Given the description of an element on the screen output the (x, y) to click on. 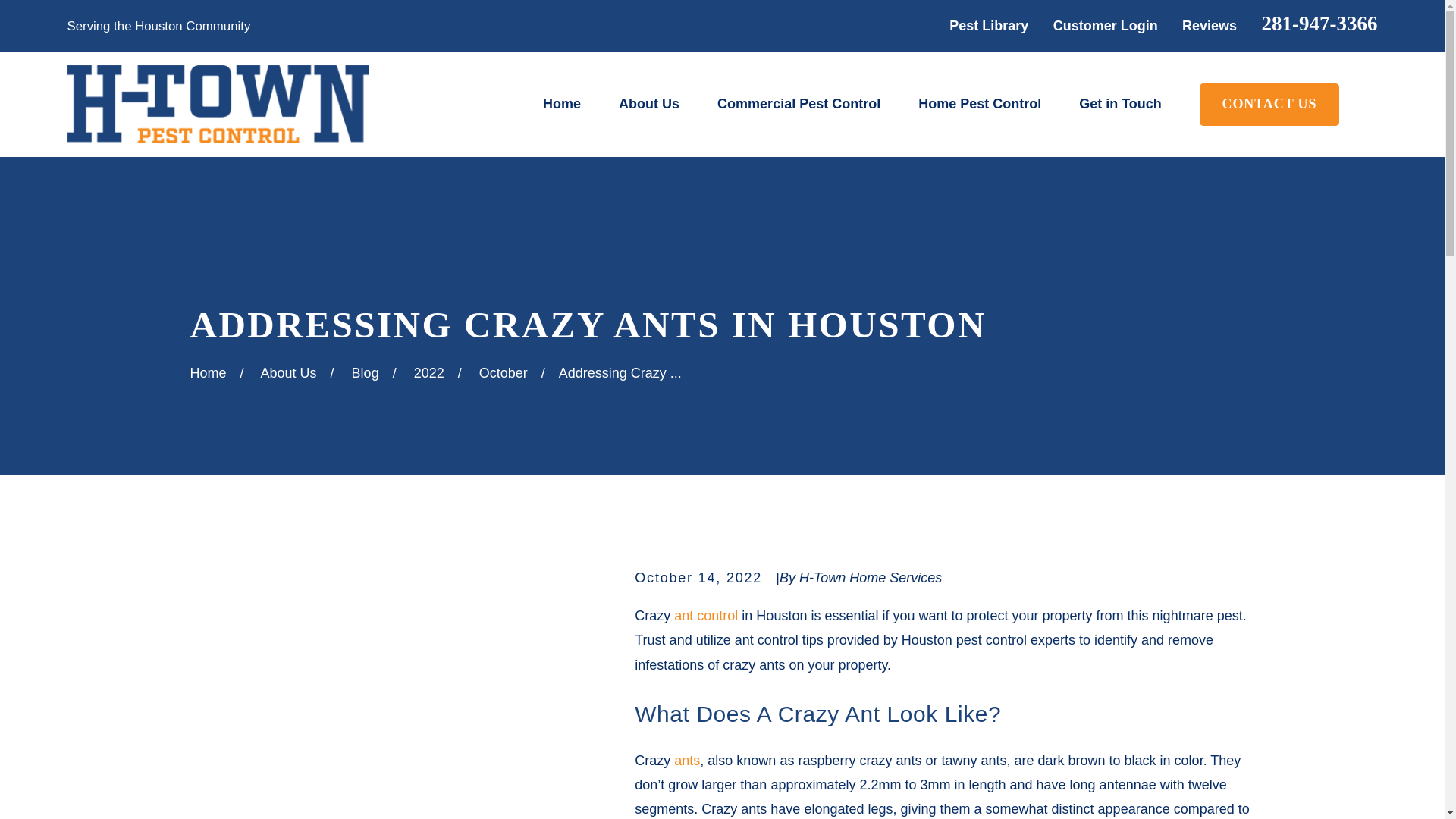
Pest Library (988, 25)
Customer Login (1104, 25)
Get in Touch (1119, 104)
Commercial Pest Control (798, 104)
281-947-3366 (1319, 23)
Reviews (1209, 25)
Go Home (207, 372)
Home Pest Control (979, 104)
CONTACT US (1269, 104)
Home (217, 104)
